Given the description of an element on the screen output the (x, y) to click on. 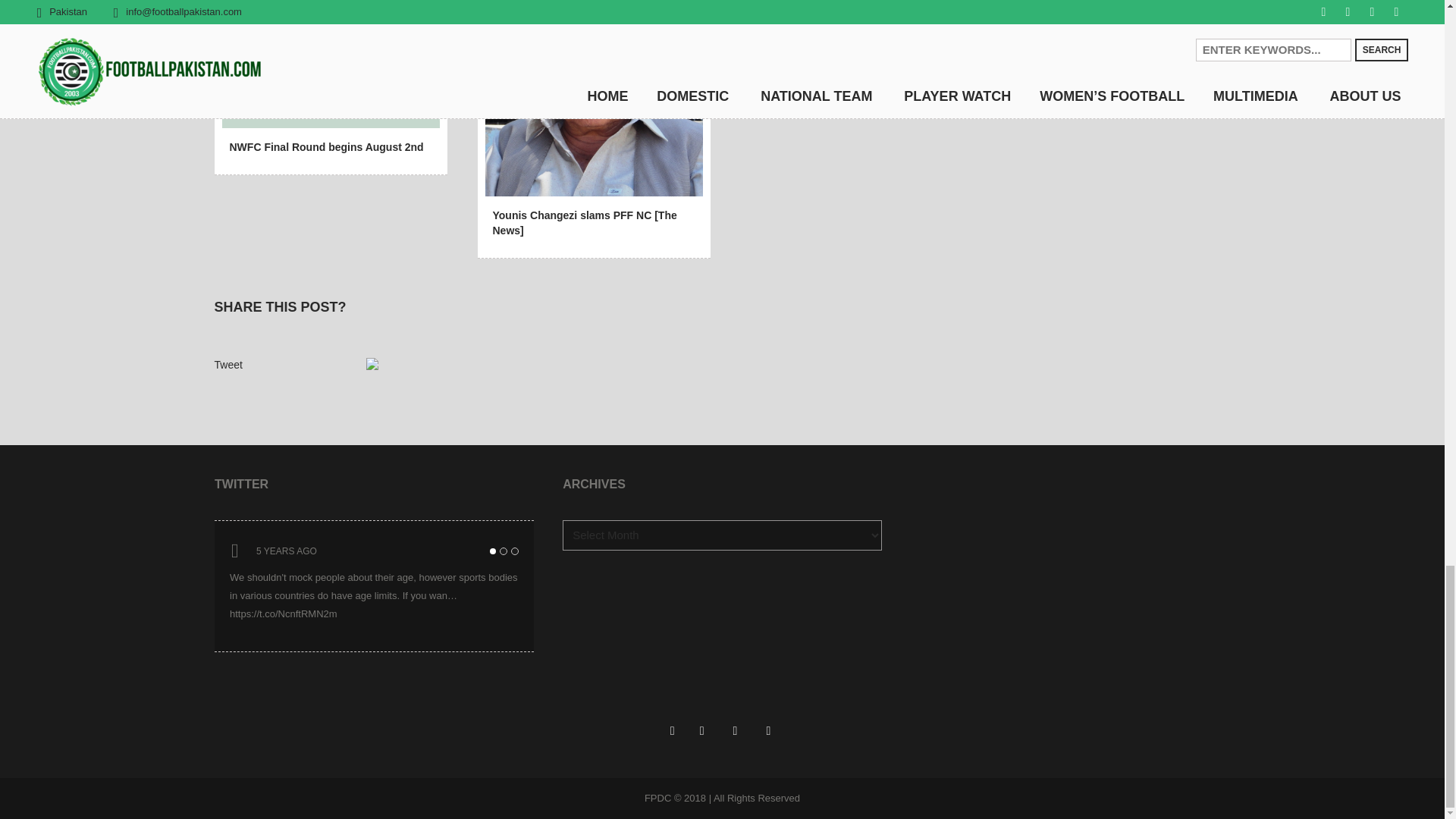
NWFC Final Round begins August 2nd (330, 60)
NWFC Final Round begins August 2nd (324, 62)
NWFC Final Round begins August 2nd (325, 146)
